Given the description of an element on the screen output the (x, y) to click on. 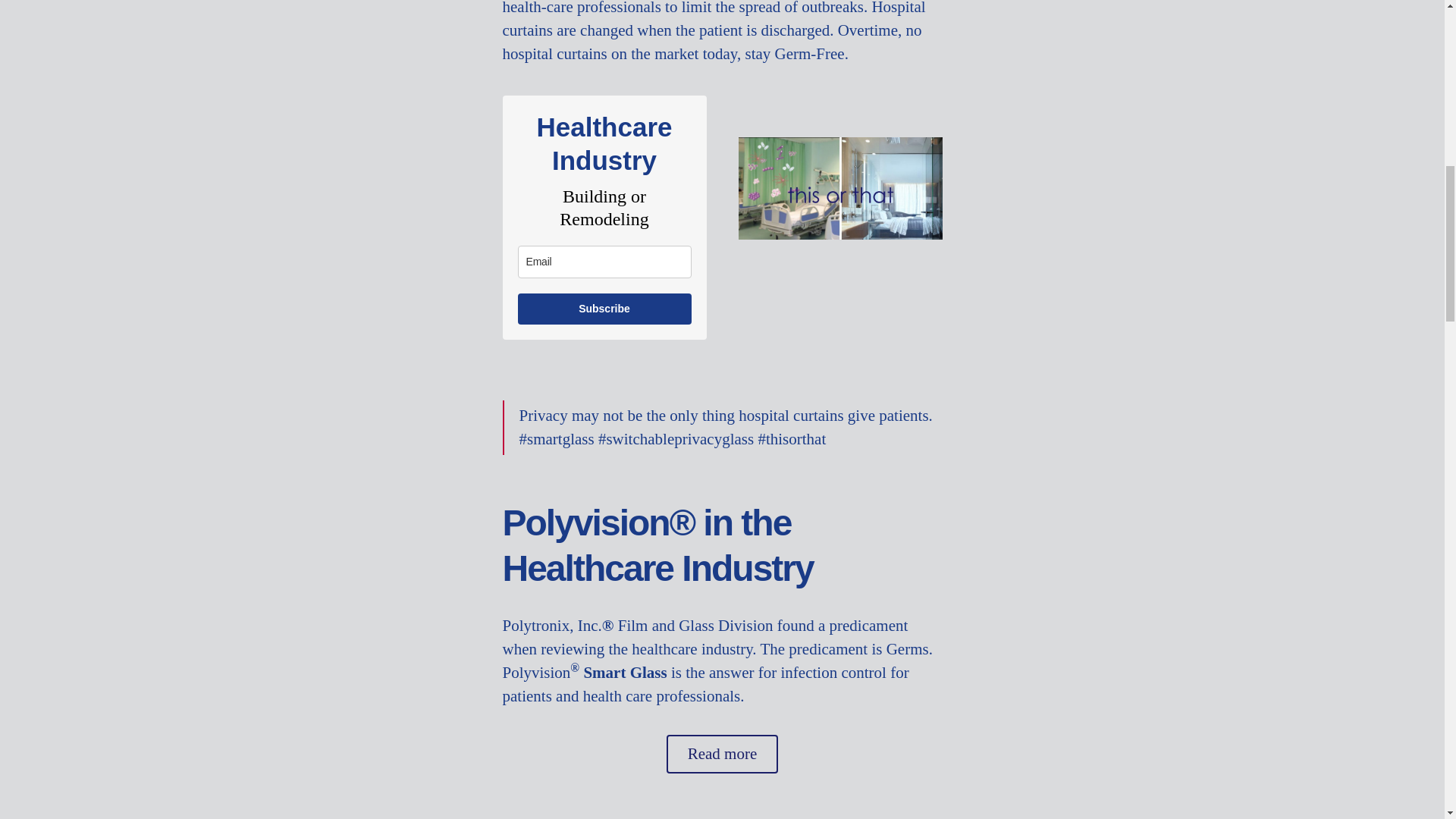
Read more (722, 753)
Subscribe (603, 308)
